Given the description of an element on the screen output the (x, y) to click on. 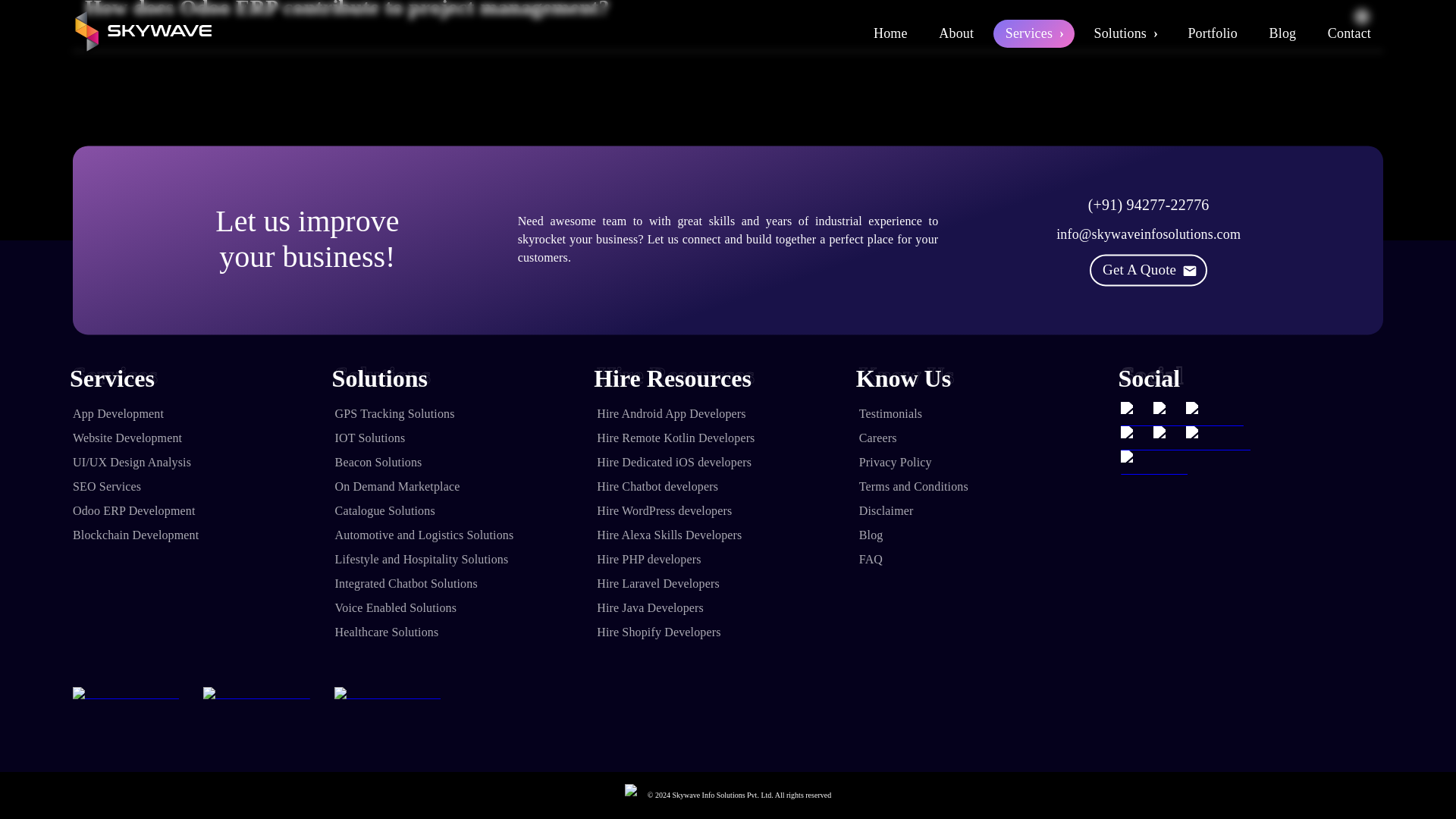
Hire Laravel Developers (727, 583)
Hire PHP developers (727, 559)
Hire Alexa Skills Developers (727, 535)
SEO Services (203, 486)
Hire WordPress developers (727, 510)
Catalogue Solutions (465, 510)
Lifestyle and Hospitality Solutions (465, 559)
Blockchain Development (203, 535)
Get A Quote (1148, 269)
Hire Android App Developers (727, 413)
